Given the description of an element on the screen output the (x, y) to click on. 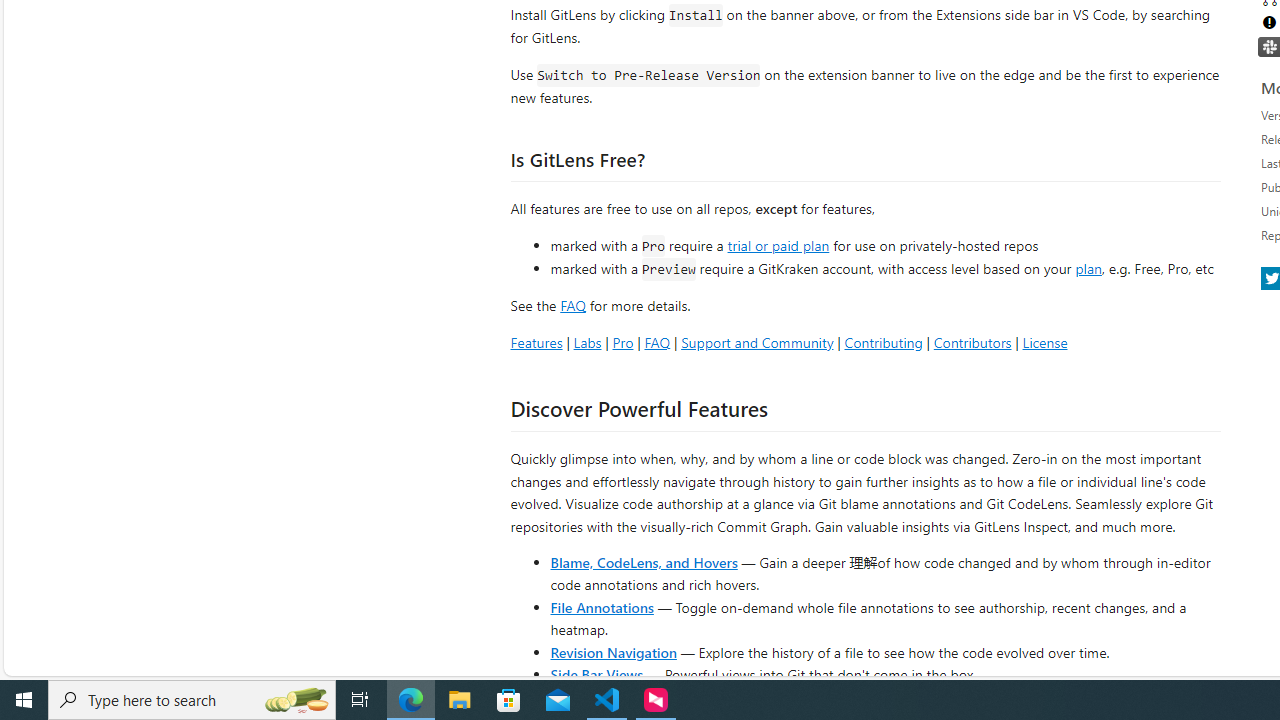
plan (1088, 269)
Labs (587, 341)
Side Bar Views (596, 673)
Revision Navigation (613, 651)
Support and Community (757, 341)
